Given the description of an element on the screen output the (x, y) to click on. 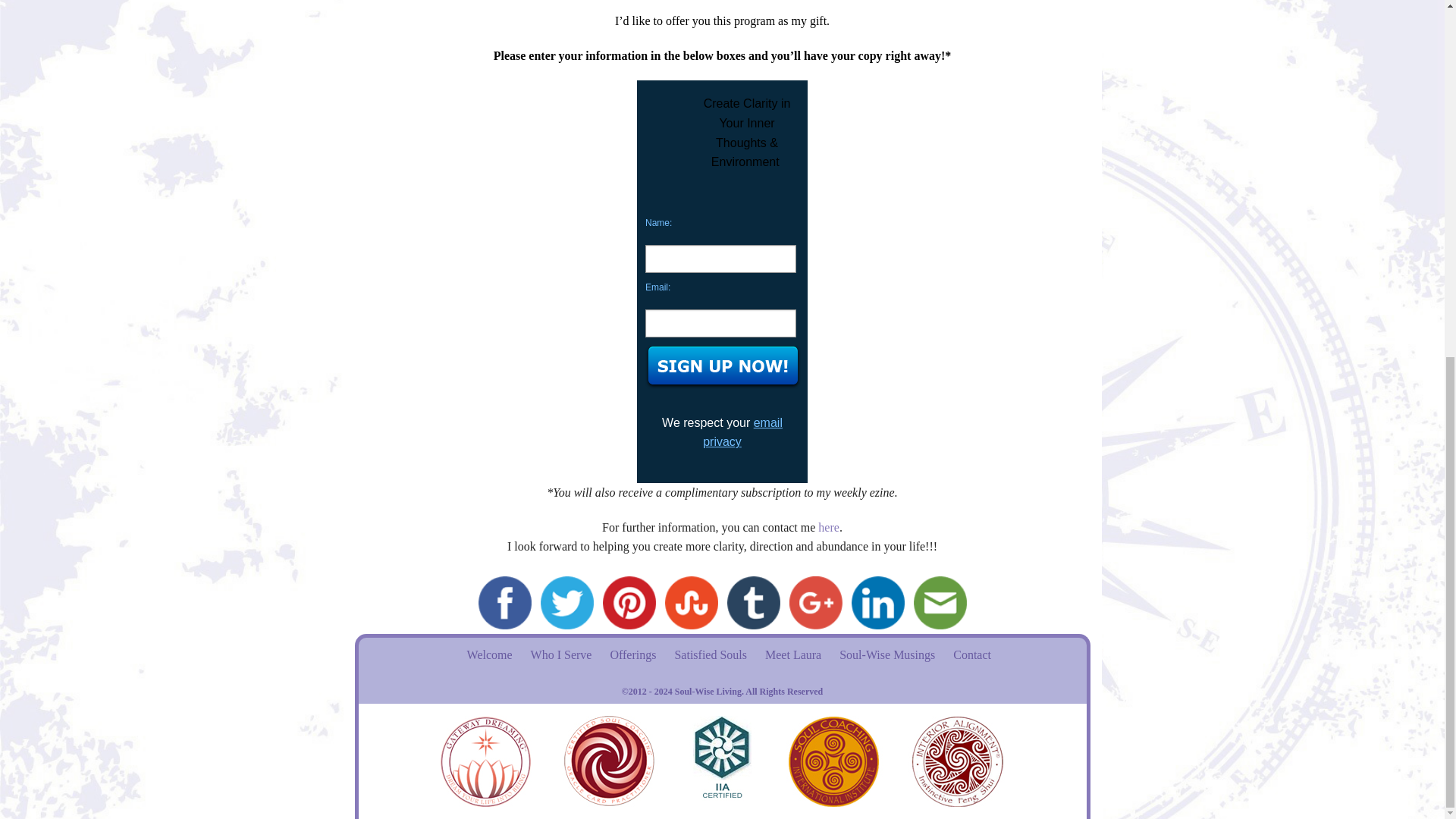
email (939, 602)
tumblr (753, 602)
email privacy (743, 432)
pinterest (627, 602)
facebook (504, 602)
google (814, 602)
stumbleupon (690, 602)
twitter (565, 602)
here (829, 526)
Privacy Policy (743, 432)
linkedin (876, 602)
